Given the description of an element on the screen output the (x, y) to click on. 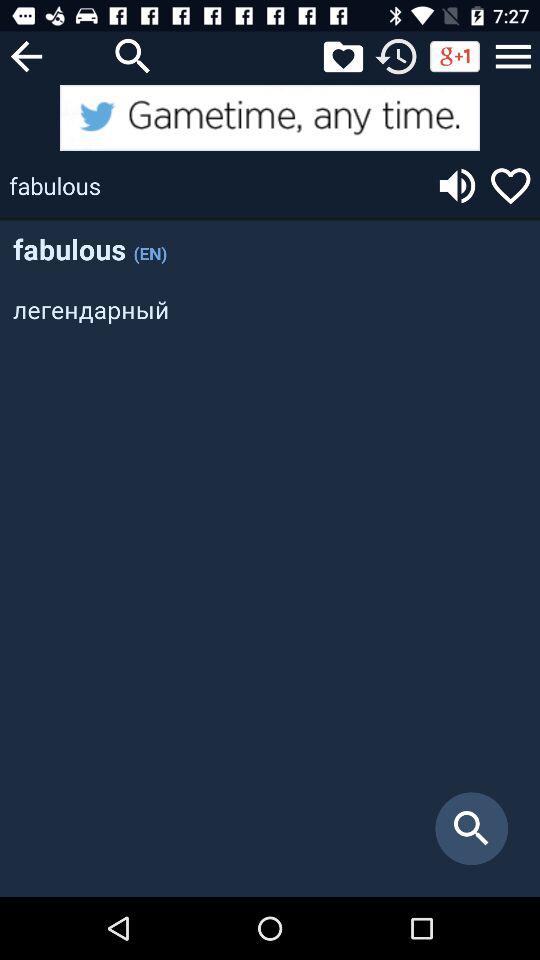
go to search button (133, 56)
